Given the description of an element on the screen output the (x, y) to click on. 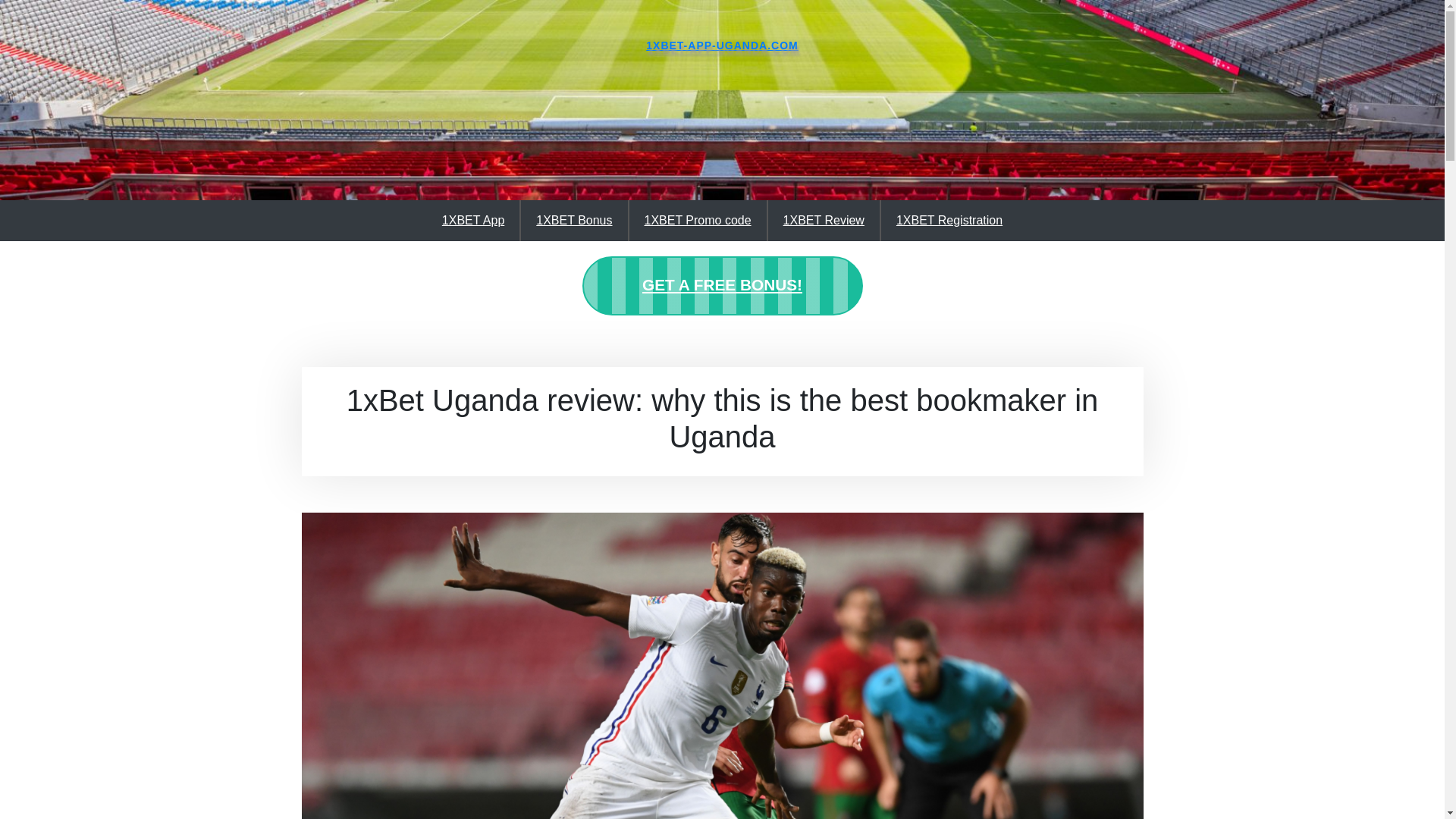
1XBET Review Element type: text (823, 220)
1XBET App Element type: text (473, 220)
GET A FREE BONUS! Element type: text (722, 286)
1XBET Promo code Element type: text (696, 220)
1XBET Registration Element type: text (948, 220)
1XBET-APP-UGANDA.COM Element type: text (721, 45)
1XBET Bonus Element type: text (573, 220)
